Given the description of an element on the screen output the (x, y) to click on. 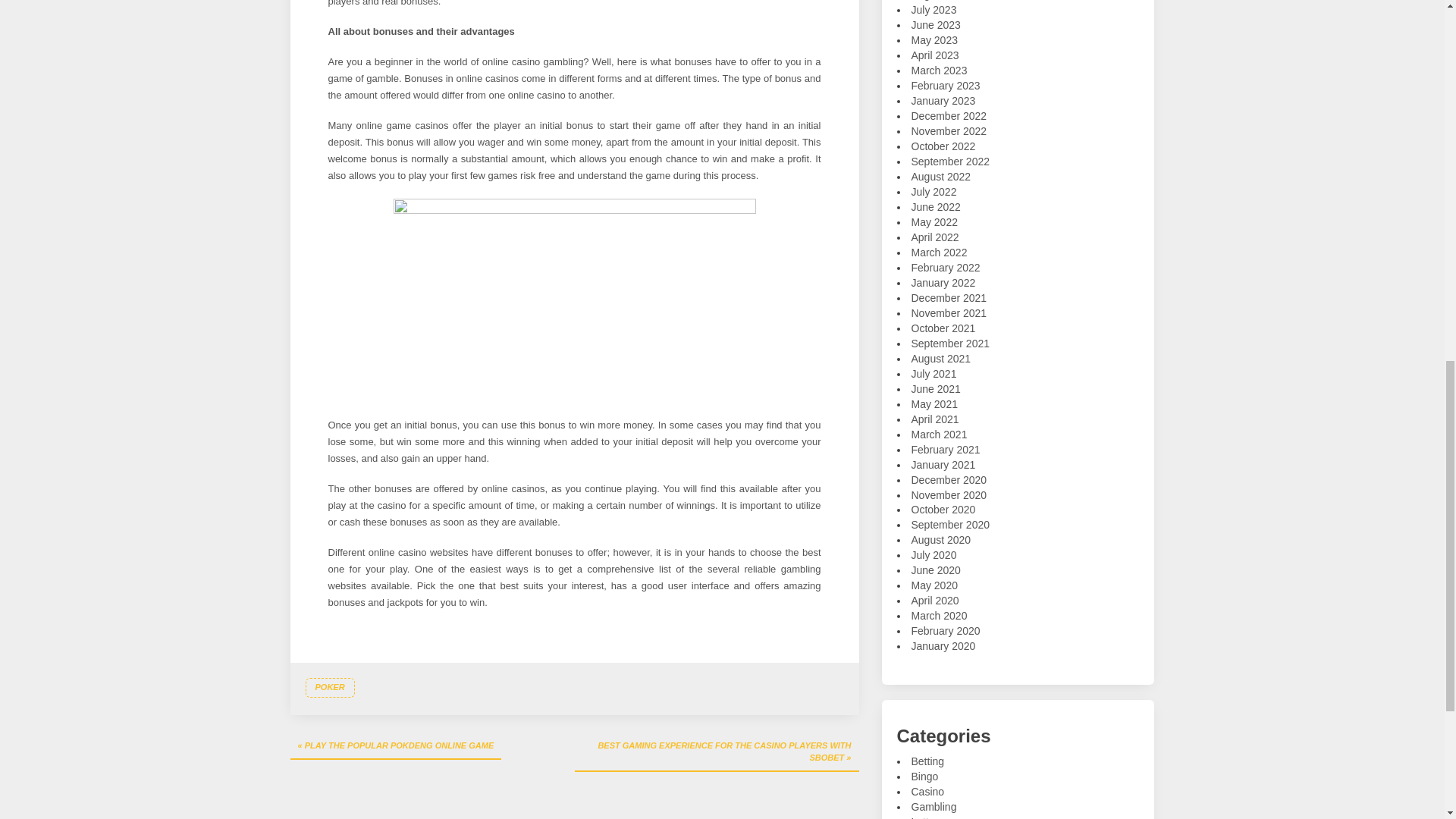
POKER (328, 687)
August 2023 (941, 0)
BEST GAMING EXPERIENCE FOR THE CASINO PLAYERS WITH SBOBET (717, 752)
May 2023 (934, 39)
March 2023 (939, 70)
February 2023 (945, 85)
July 2023 (933, 9)
PLAY THE POPULAR POKDENG ONLINE GAME (394, 746)
April 2023 (935, 55)
June 2023 (935, 24)
